Given the description of an element on the screen output the (x, y) to click on. 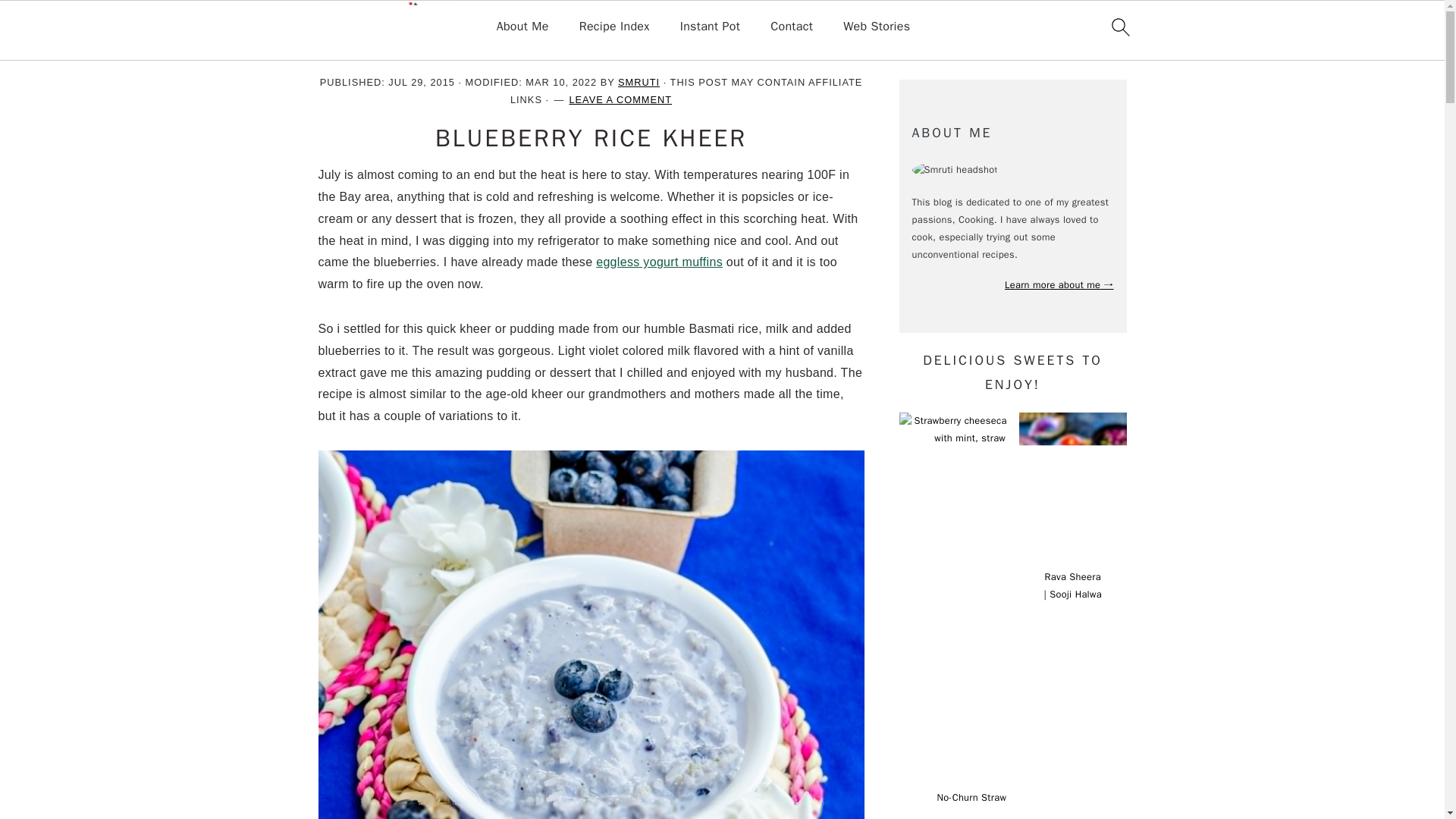
SMRUTI (638, 81)
Instant Pot (710, 26)
About Me (522, 26)
Contact (791, 26)
Uncategorized (401, 50)
search icon (1119, 26)
Recipe Index (614, 26)
Home (334, 50)
Web Stories (876, 26)
